Given the description of an element on the screen output the (x, y) to click on. 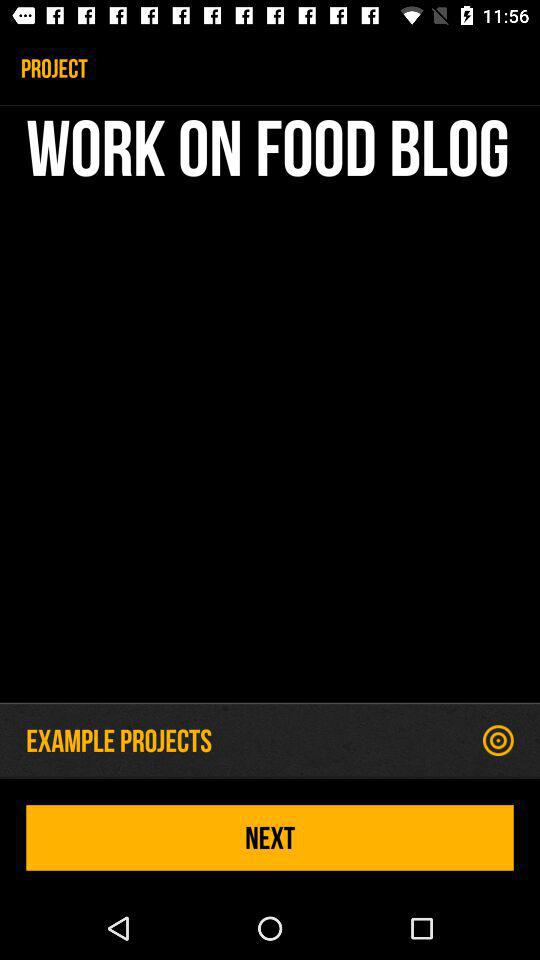
flip to the work on food (269, 407)
